Given the description of an element on the screen output the (x, y) to click on. 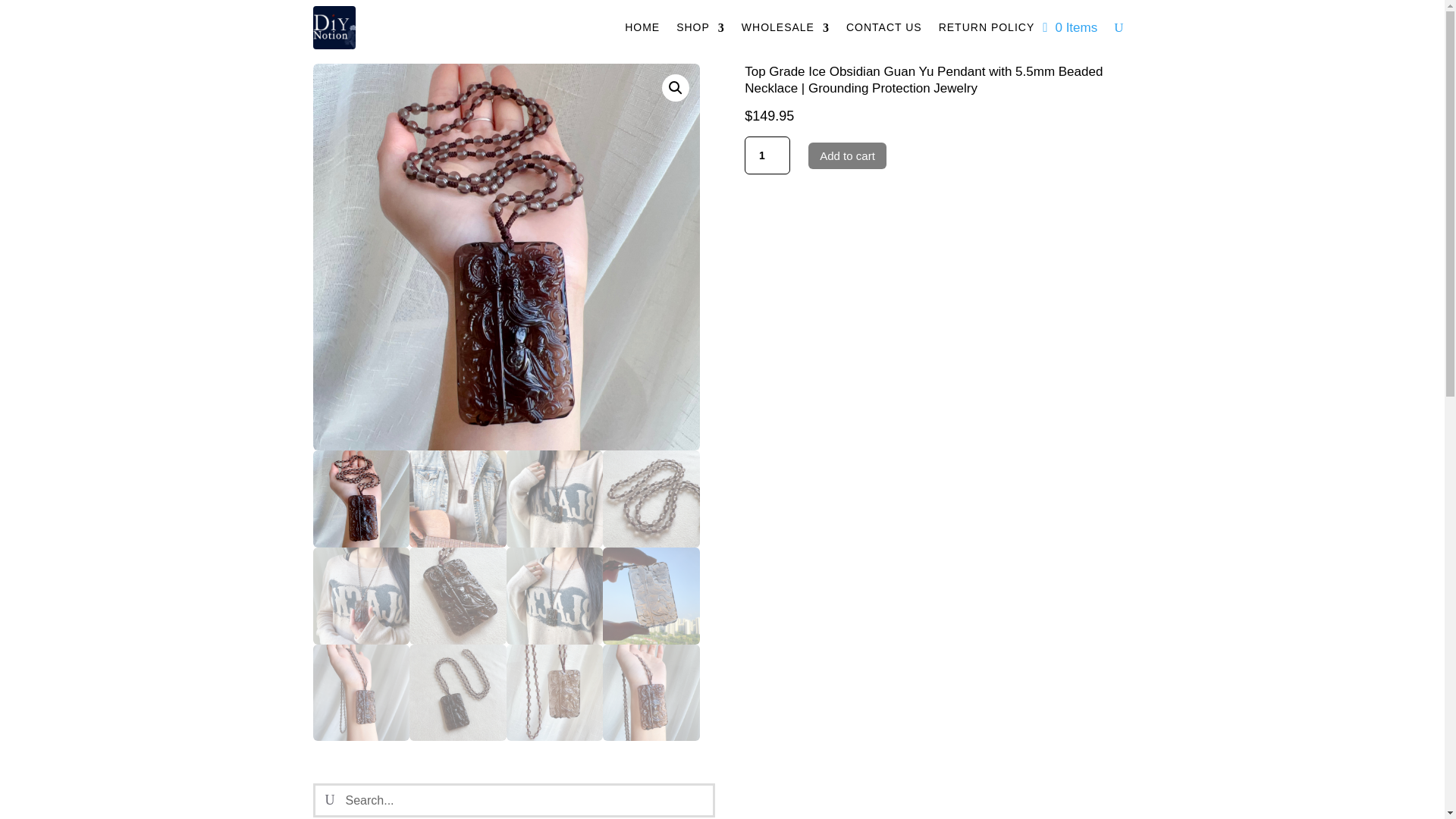
WHOLESALE (785, 27)
0 Items (1069, 27)
RETURN POLICY (987, 27)
CONTACT US (883, 27)
1 (767, 155)
